Given the description of an element on the screen output the (x, y) to click on. 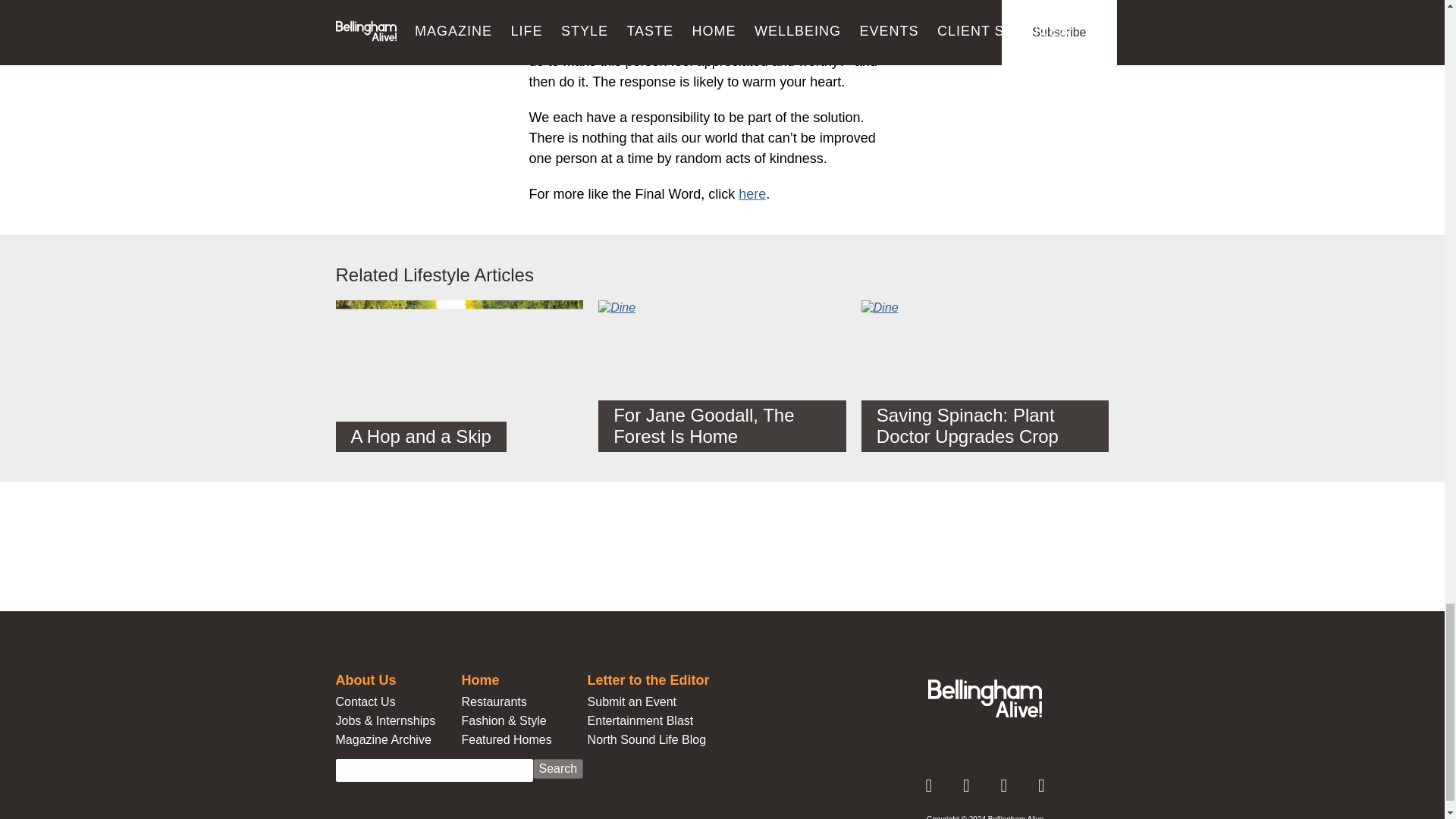
For Jane Goodall, The Forest Is Home (721, 376)
A Hop and a Skip (458, 383)
Saving Spinach: Plant Doctor Upgrades Crop (985, 376)
